Given the description of an element on the screen output the (x, y) to click on. 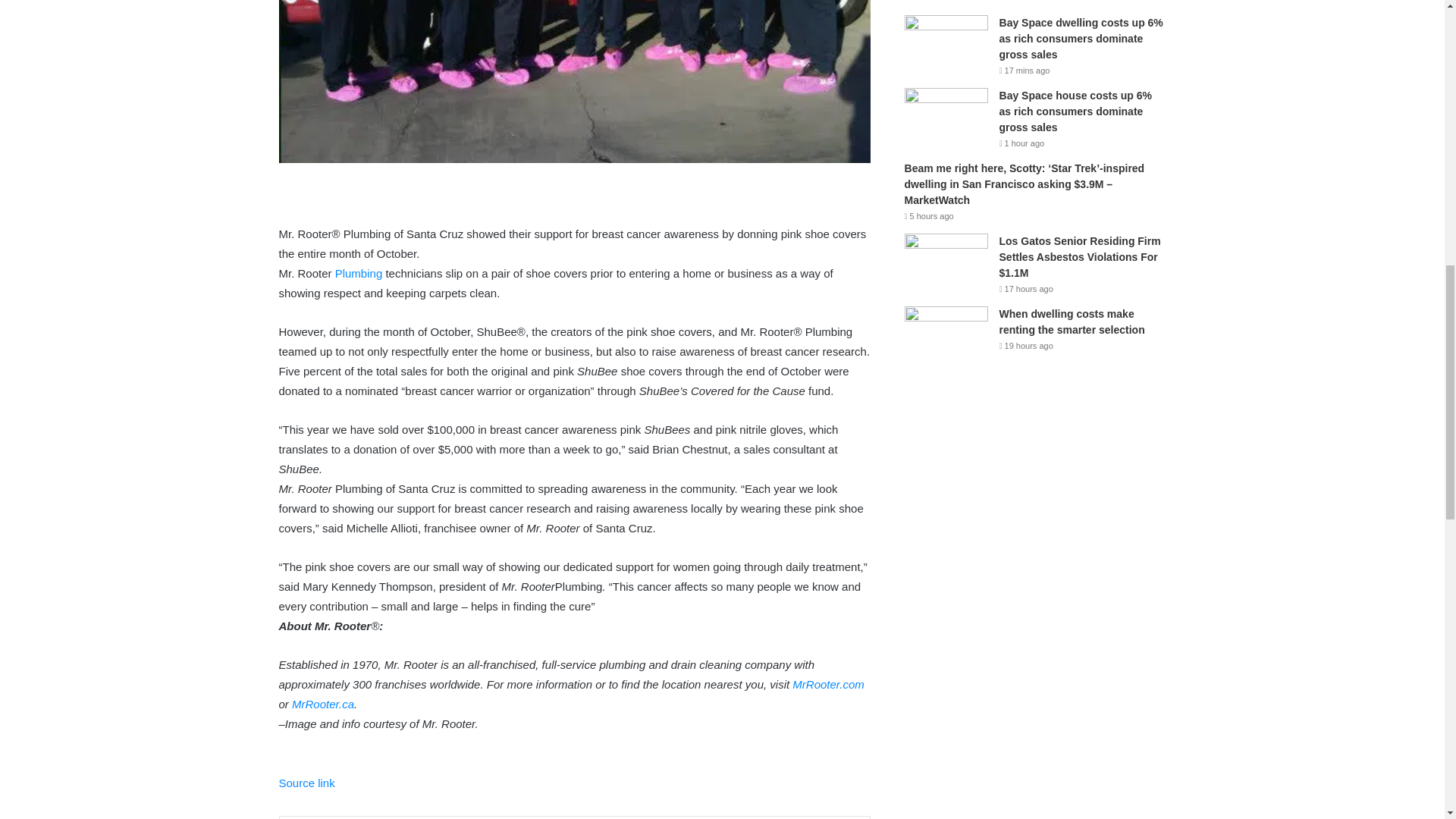
Source link (306, 782)
MrRooter.com (827, 684)
MrRooter.ca (322, 703)
Plumbing (358, 273)
Plumbing (358, 273)
